Given the description of an element on the screen output the (x, y) to click on. 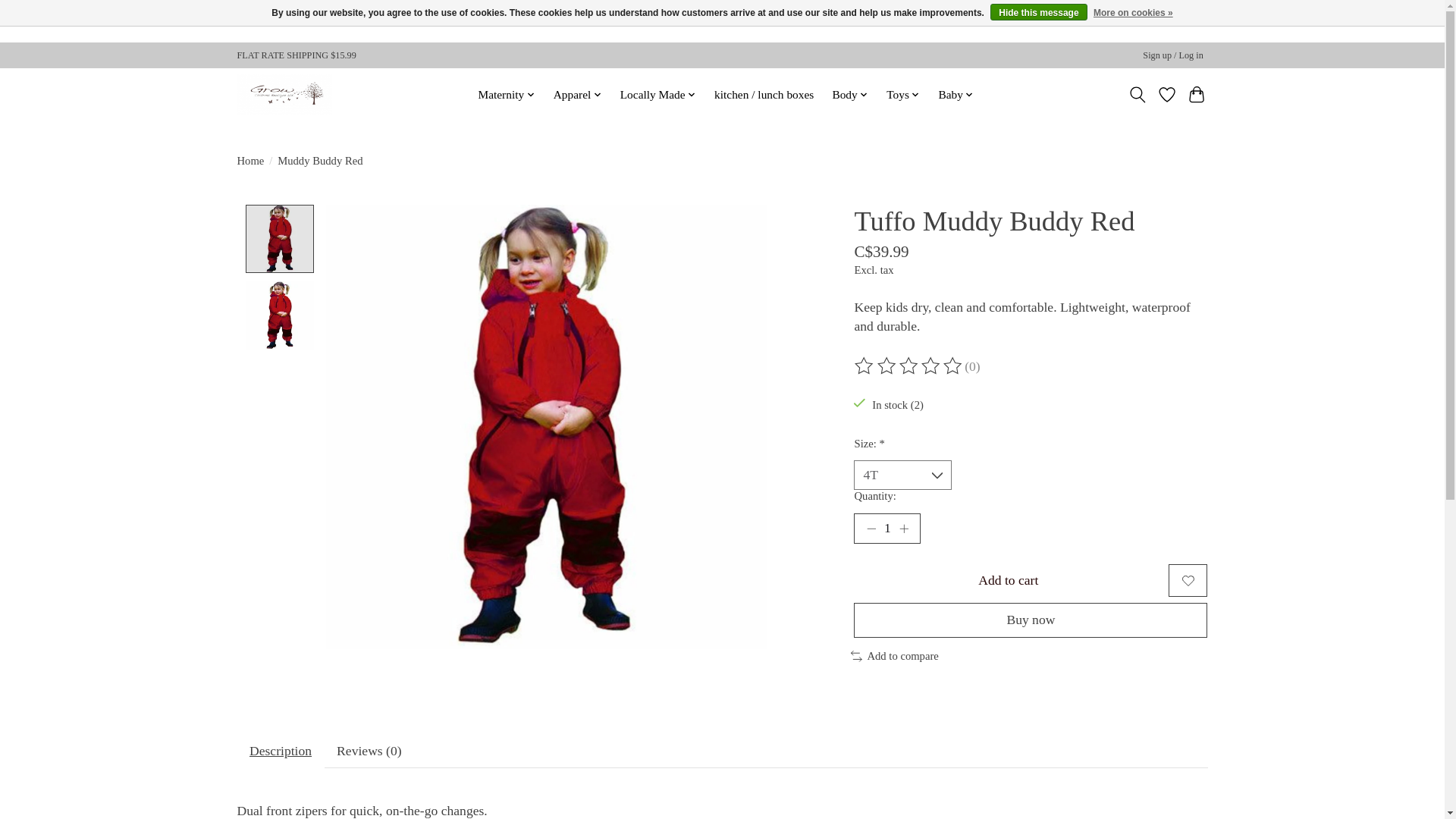
Maternity (505, 94)
Apparel (577, 94)
Hide this message (1038, 12)
My account (1173, 55)
Locally Made (657, 94)
Grow Children's Boutique (283, 94)
1 (886, 528)
